Given the description of an element on the screen output the (x, y) to click on. 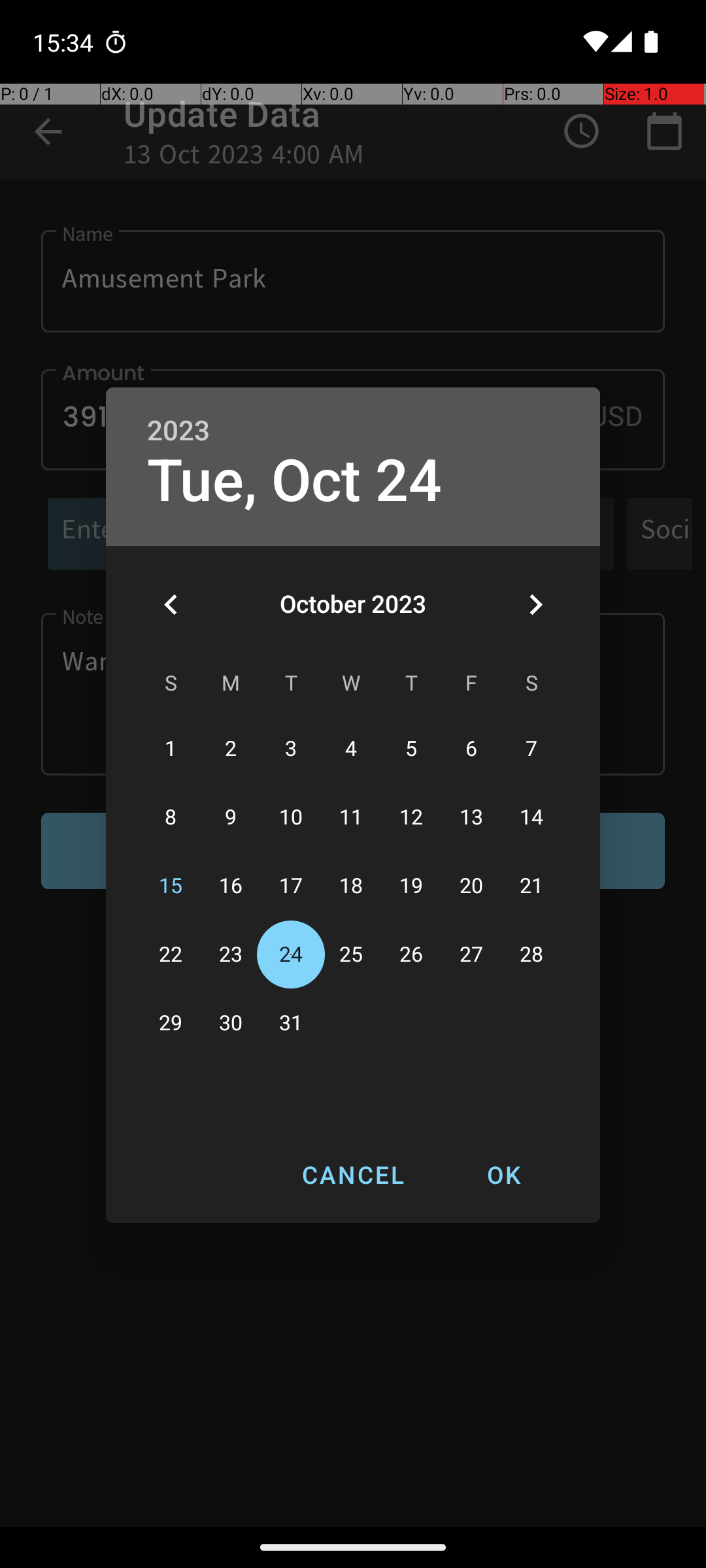
Tue, Oct 24 Element type: android.widget.TextView (294, 480)
